Given the description of an element on the screen output the (x, y) to click on. 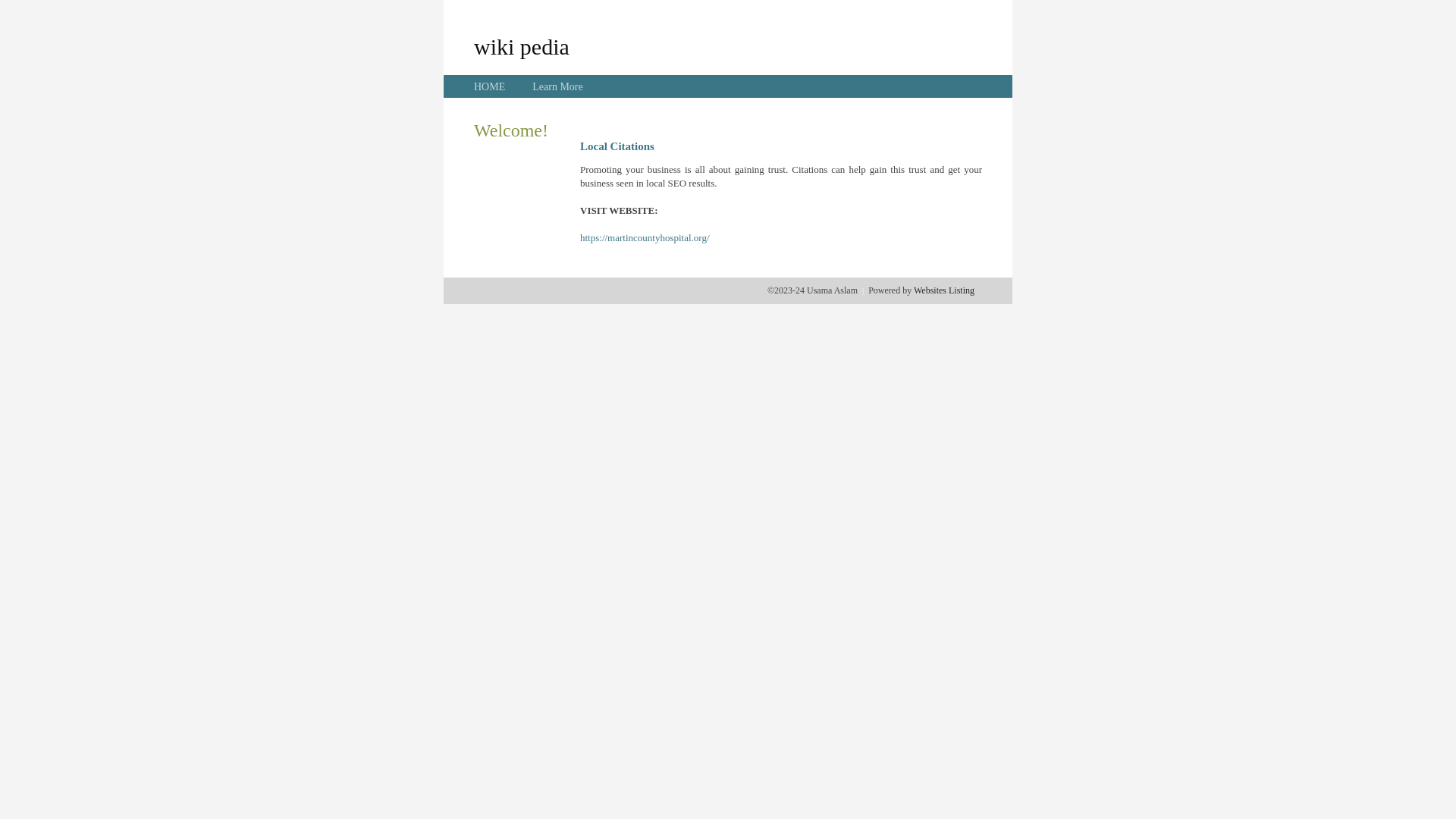
HOME Element type: text (489, 86)
Learn More Element type: text (557, 86)
https://martincountyhospital.org/ Element type: text (644, 237)
wiki pedia Element type: text (521, 46)
Websites Listing Element type: text (943, 290)
